Given the description of an element on the screen output the (x, y) to click on. 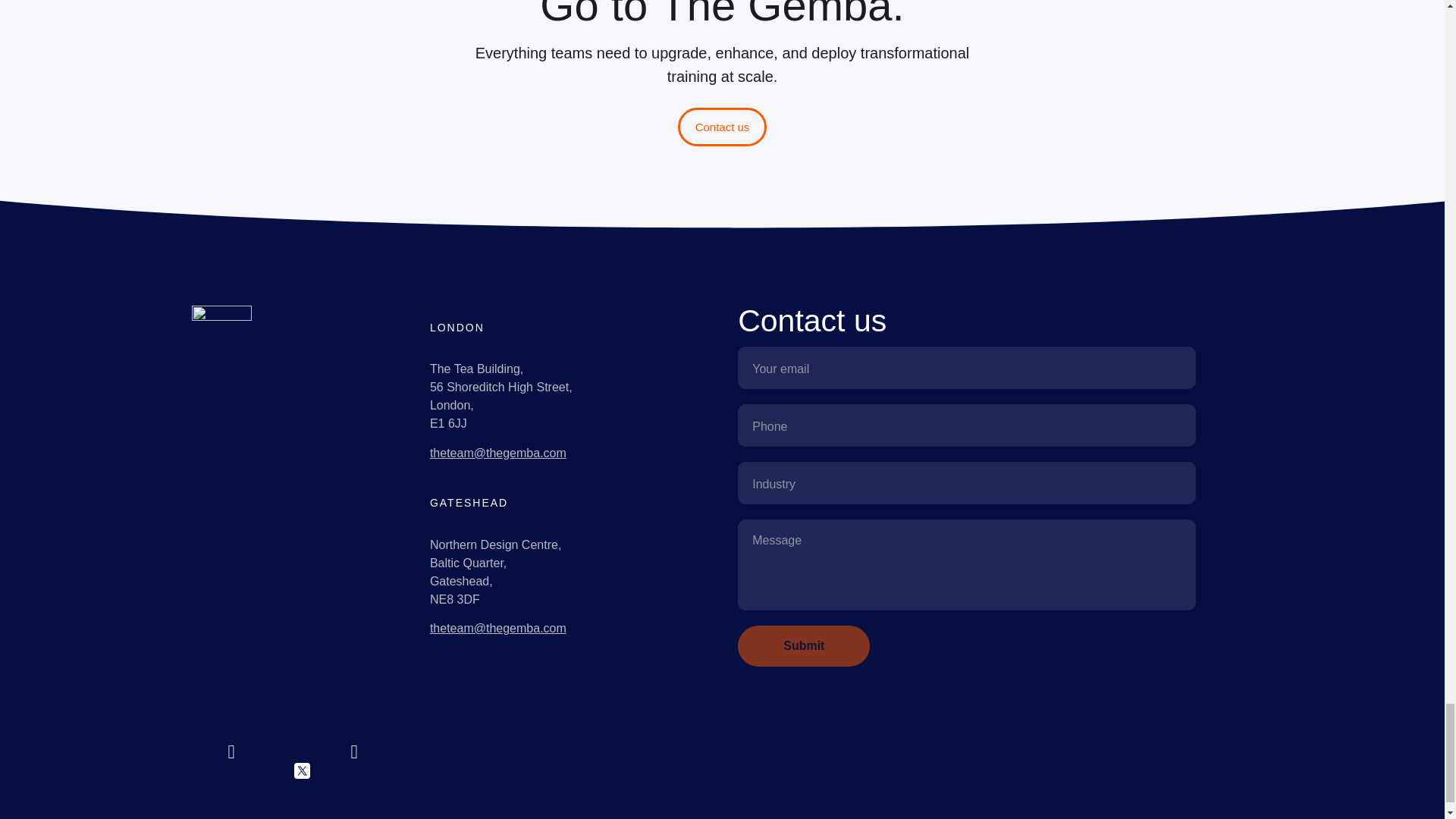
GATESHEAD (519, 496)
Contact us (966, 318)
LONDON  (519, 332)
Go to The Gemba. (721, 20)
Contact us (721, 126)
